Given the description of an element on the screen output the (x, y) to click on. 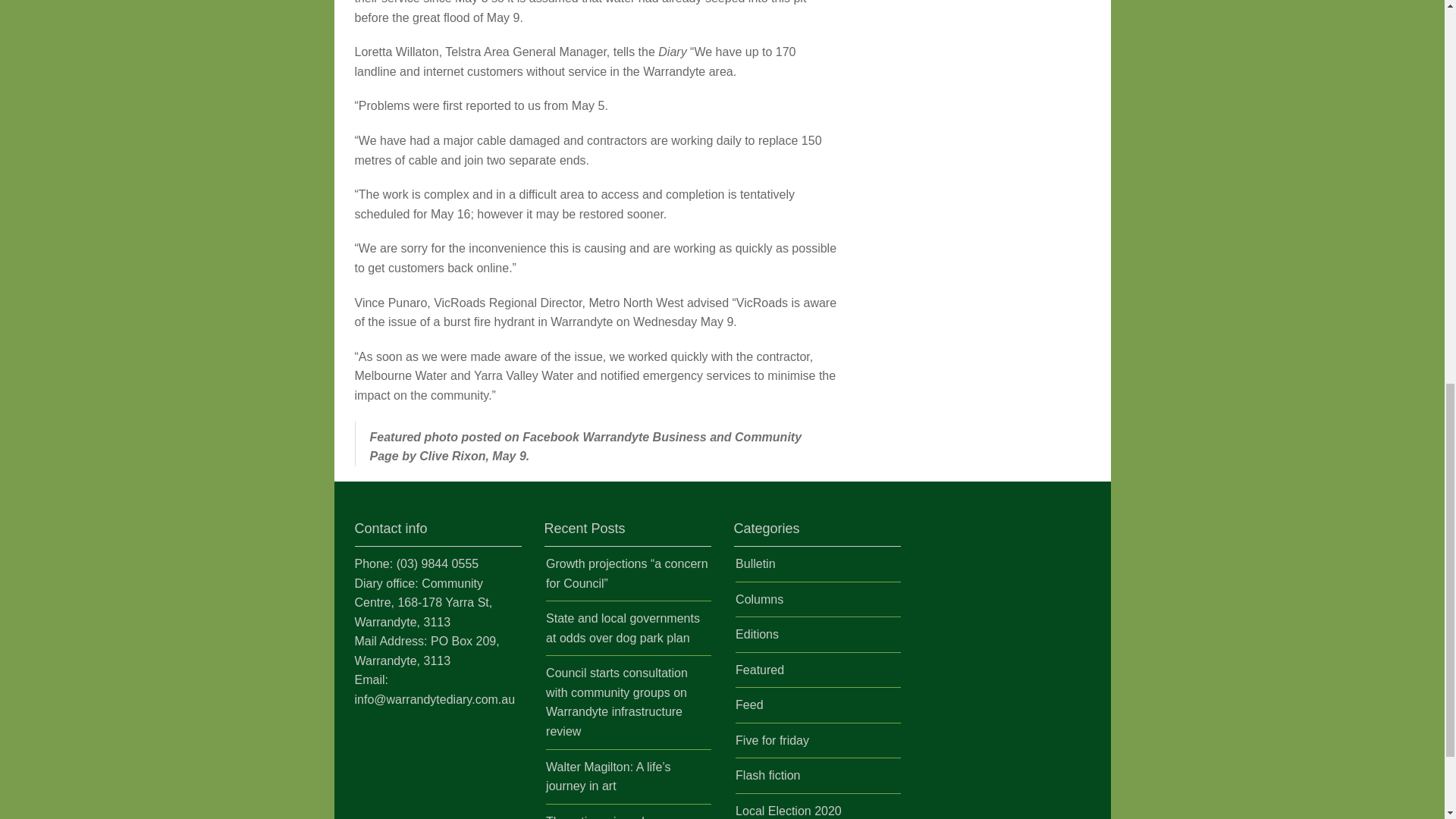
Feed (748, 704)
Flash fiction (767, 775)
Five for friday (772, 739)
Featured (759, 669)
Bulletin (754, 563)
State and local governments at odds over dog park plan (623, 627)
Columns (759, 599)
Local Election 2020 (788, 810)
Three times is a charm (607, 816)
Editions (756, 634)
